Given the description of an element on the screen output the (x, y) to click on. 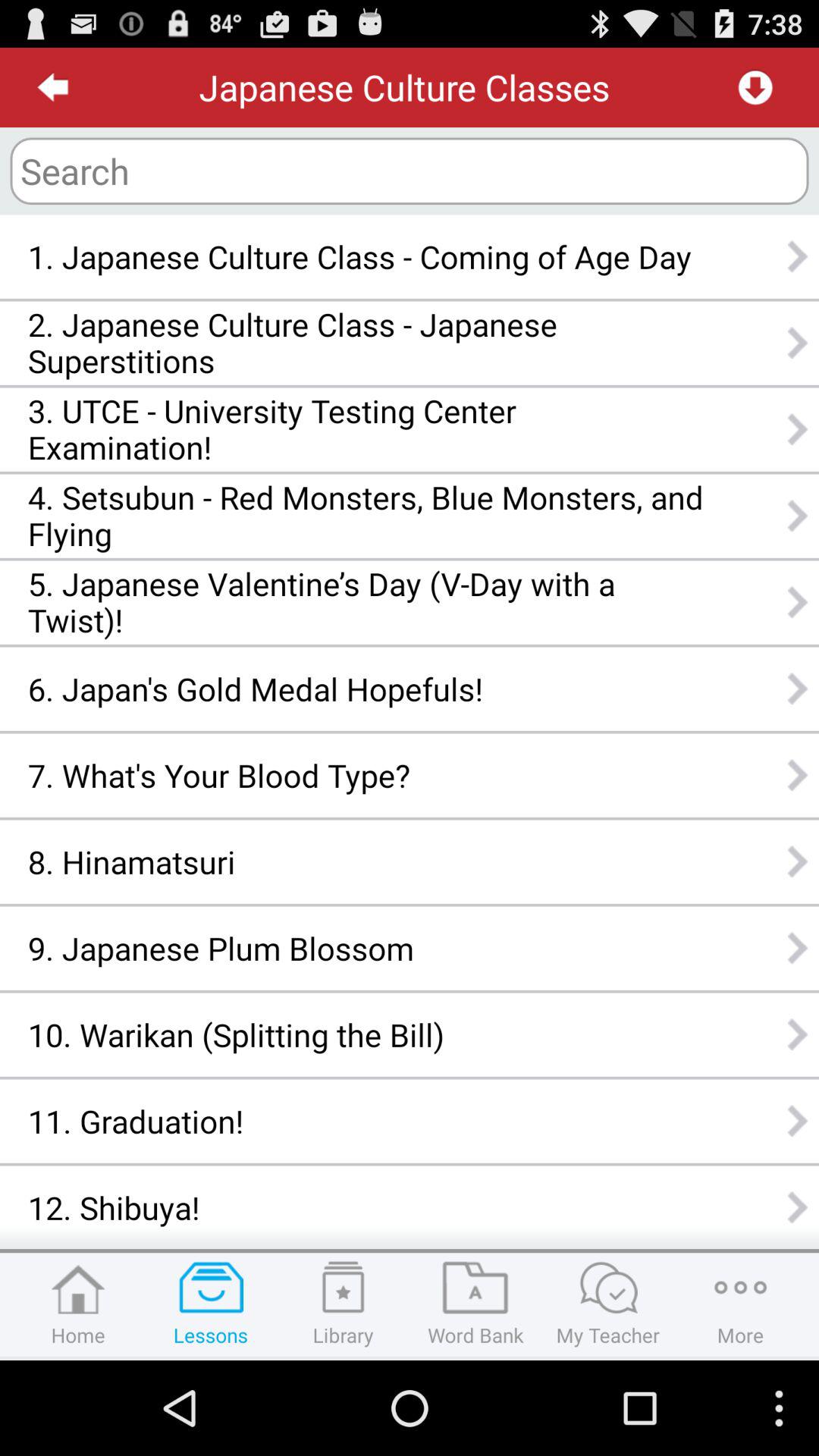
launch the item above the 12. shibuya! item (365, 1121)
